Given the description of an element on the screen output the (x, y) to click on. 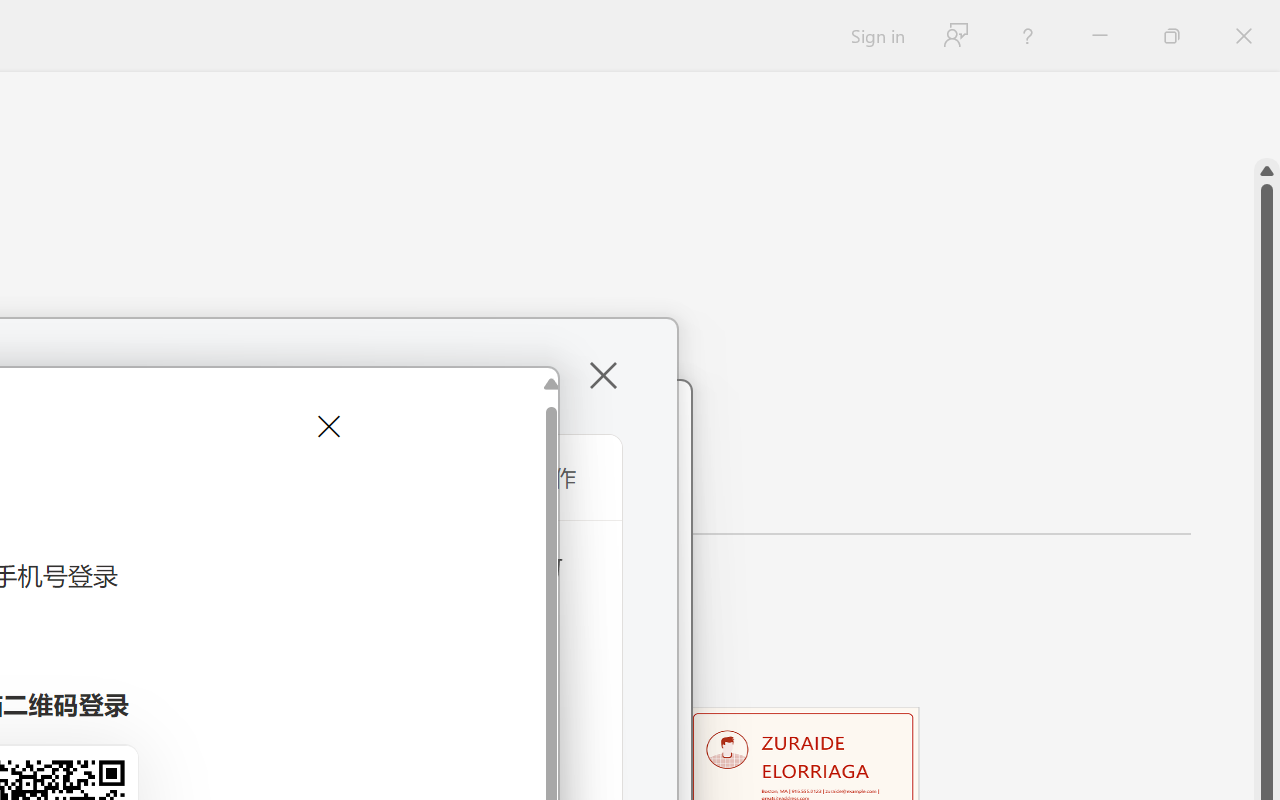
Cancel (326, 425)
Line up (1267, 171)
